Given the description of an element on the screen output the (x, y) to click on. 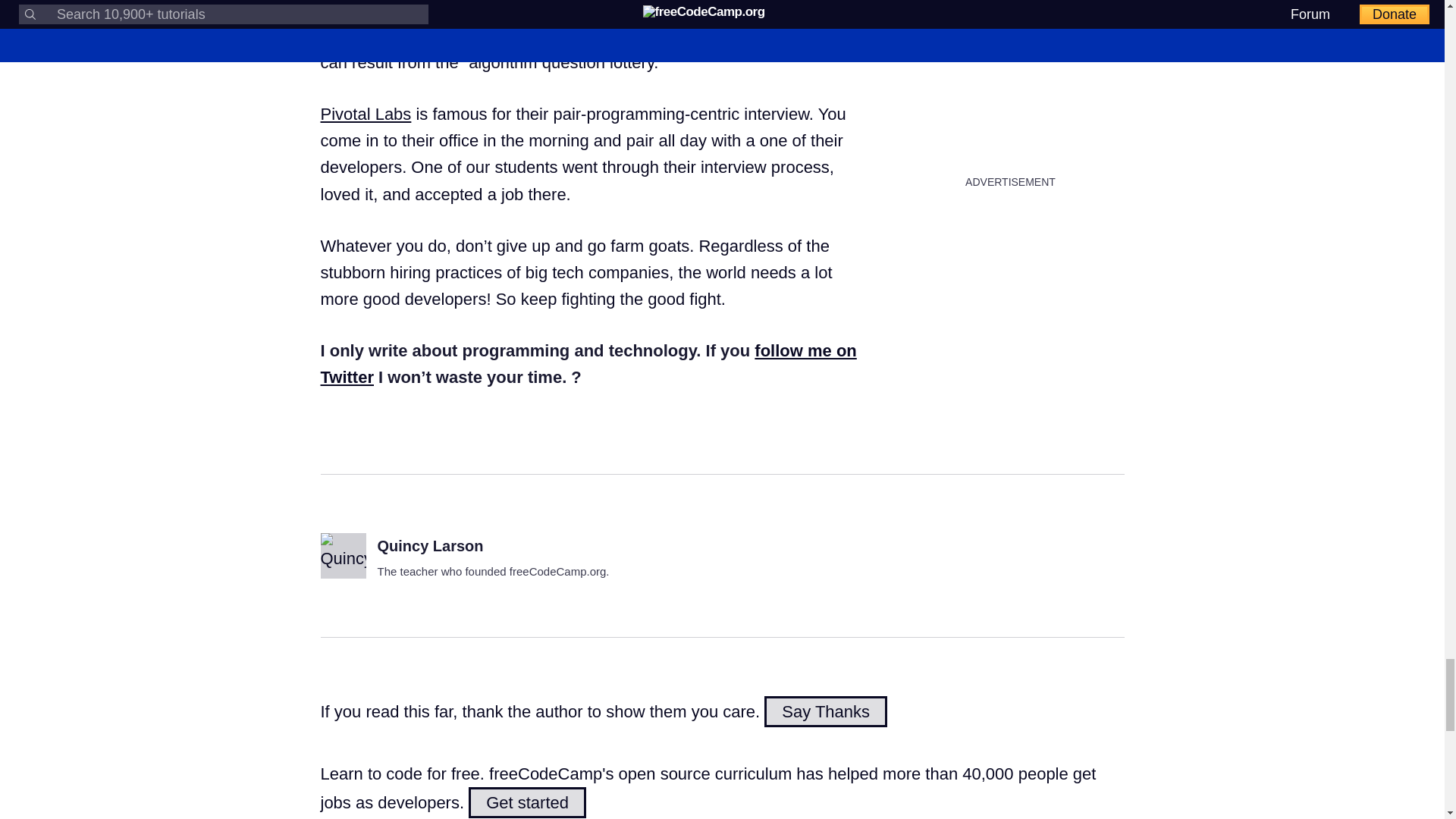
Get started (527, 802)
follow me on Twitter (588, 363)
Say Thanks (825, 711)
Pivotal Labs (365, 113)
Quincy Larson (430, 545)
